Given the description of an element on the screen output the (x, y) to click on. 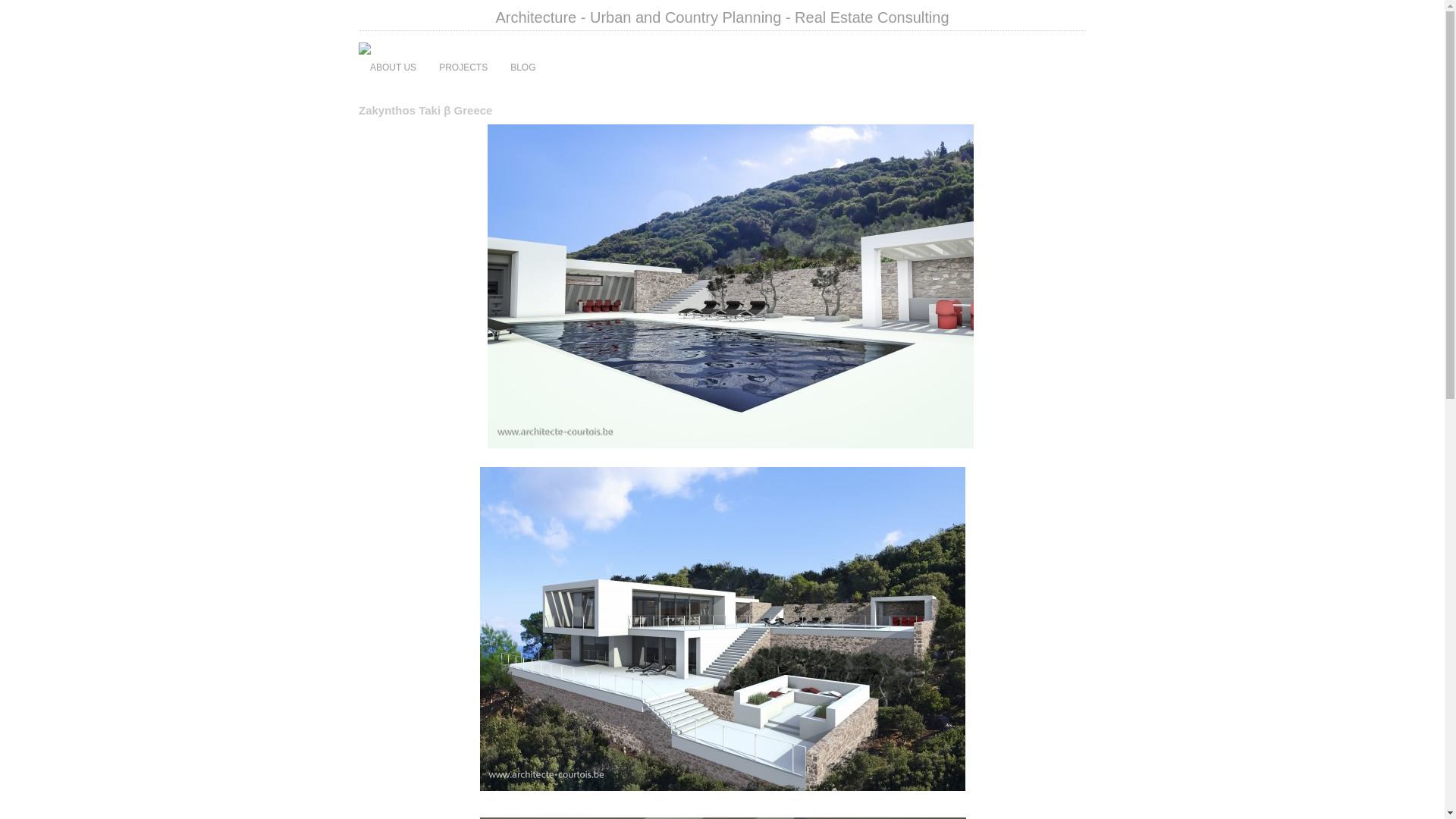
PROJECTS Element type: text (462, 67)
BLOG Element type: text (522, 67)
ABOUT US Element type: text (392, 67)
